Given the description of an element on the screen output the (x, y) to click on. 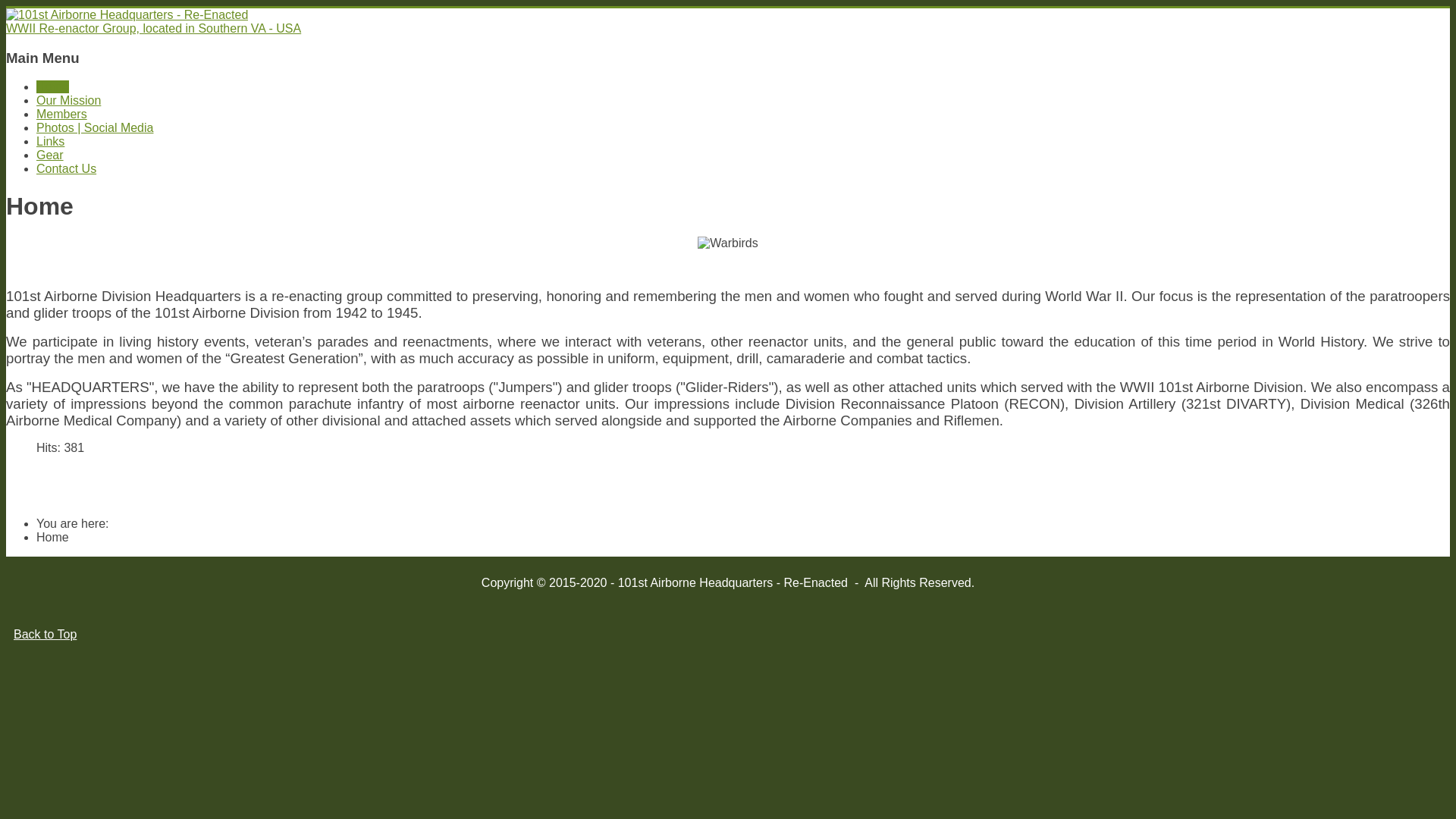
Back to Top Element type: text (44, 633)
Photos | Social Media Element type: text (94, 127)
Our Mission Element type: text (68, 100)
Contact Us Element type: text (66, 168)
Gear Element type: text (49, 154)
Links Element type: text (50, 140)
Home Element type: text (52, 86)
WWII Re-enactor Group, located in Southern VA - USA Element type: text (727, 21)
Members Element type: text (61, 113)
